Given the description of an element on the screen output the (x, y) to click on. 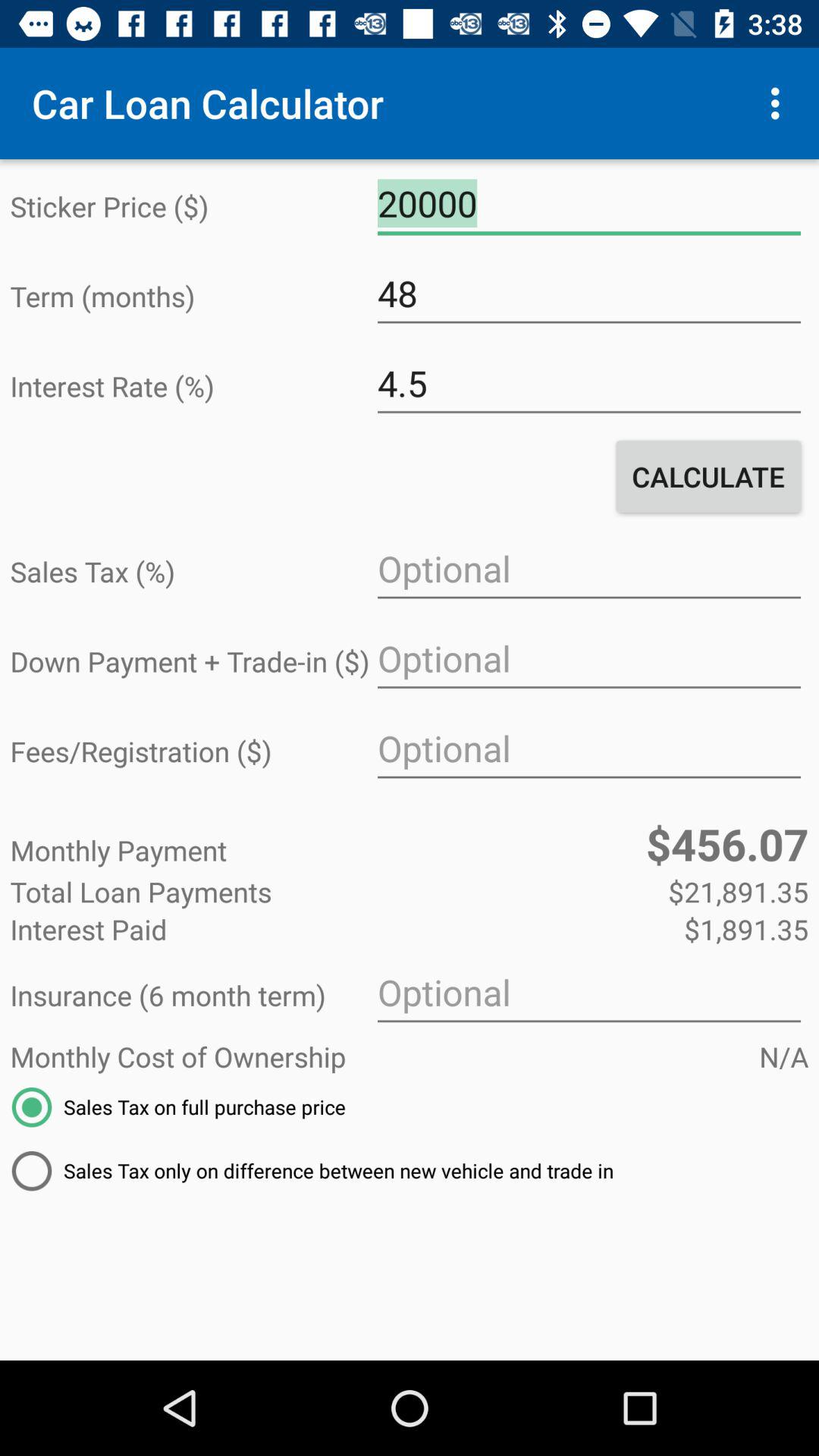
enter the numeric value of the fees/registration (588, 748)
